Given the description of an element on the screen output the (x, y) to click on. 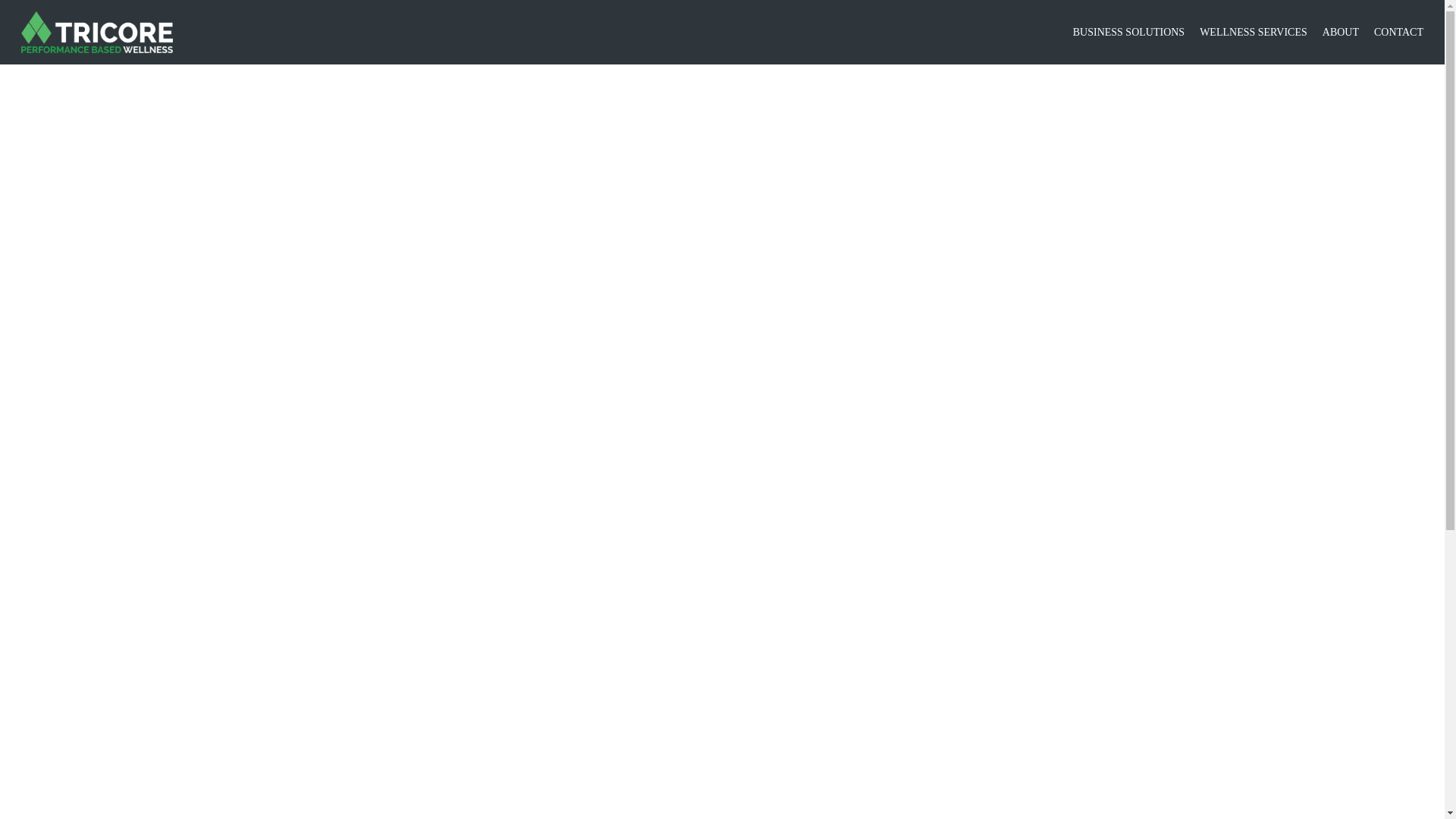
WELLNESS SERVICES (1253, 32)
CONTACT (1398, 32)
ABOUT (1340, 32)
BUSINESS SOLUTIONS (1129, 32)
